Given the description of an element on the screen output the (x, y) to click on. 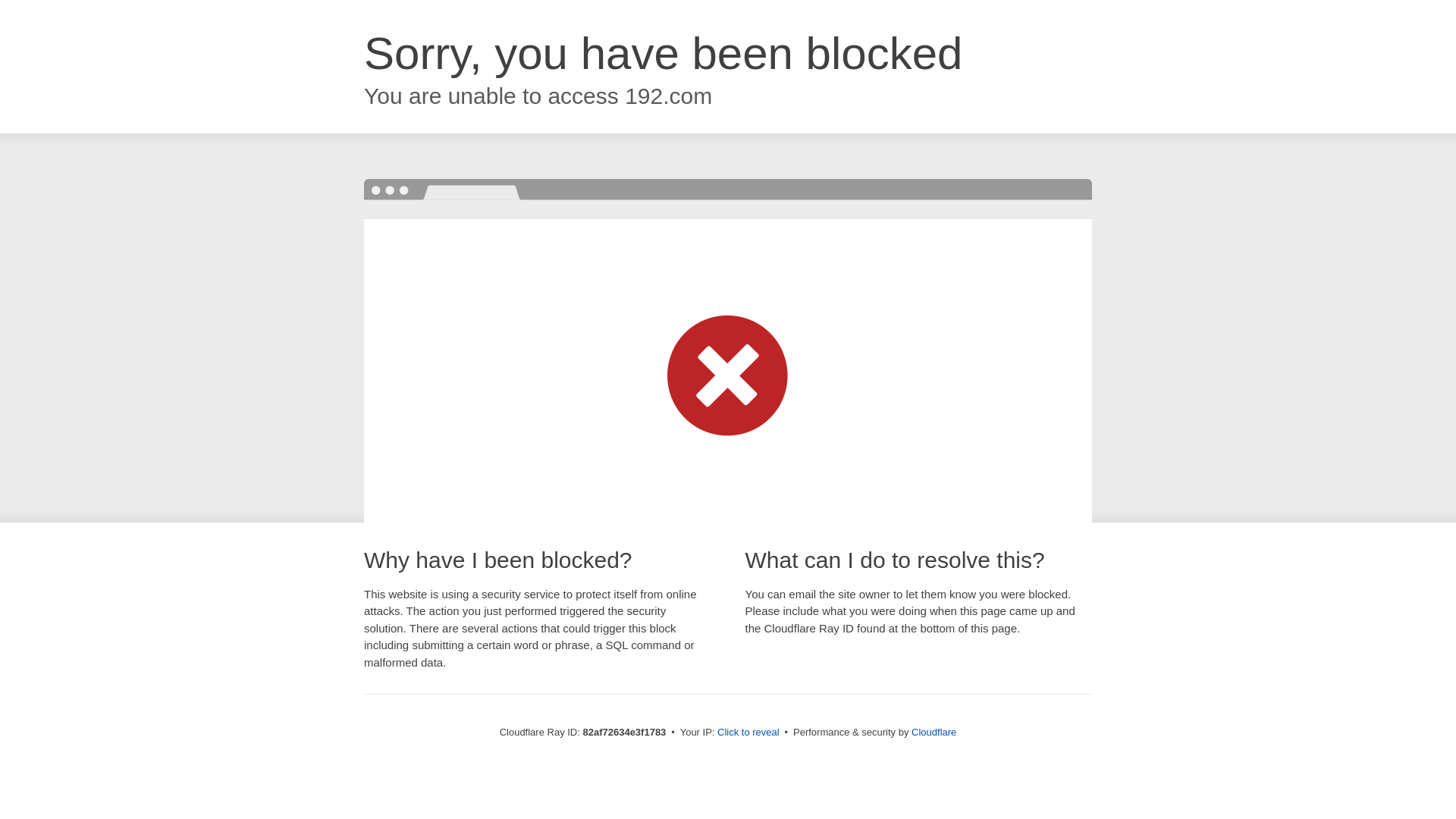
Cloudflare Element type: text (933, 731)
Click to reveal Element type: text (748, 732)
